Given the description of an element on the screen output the (x, y) to click on. 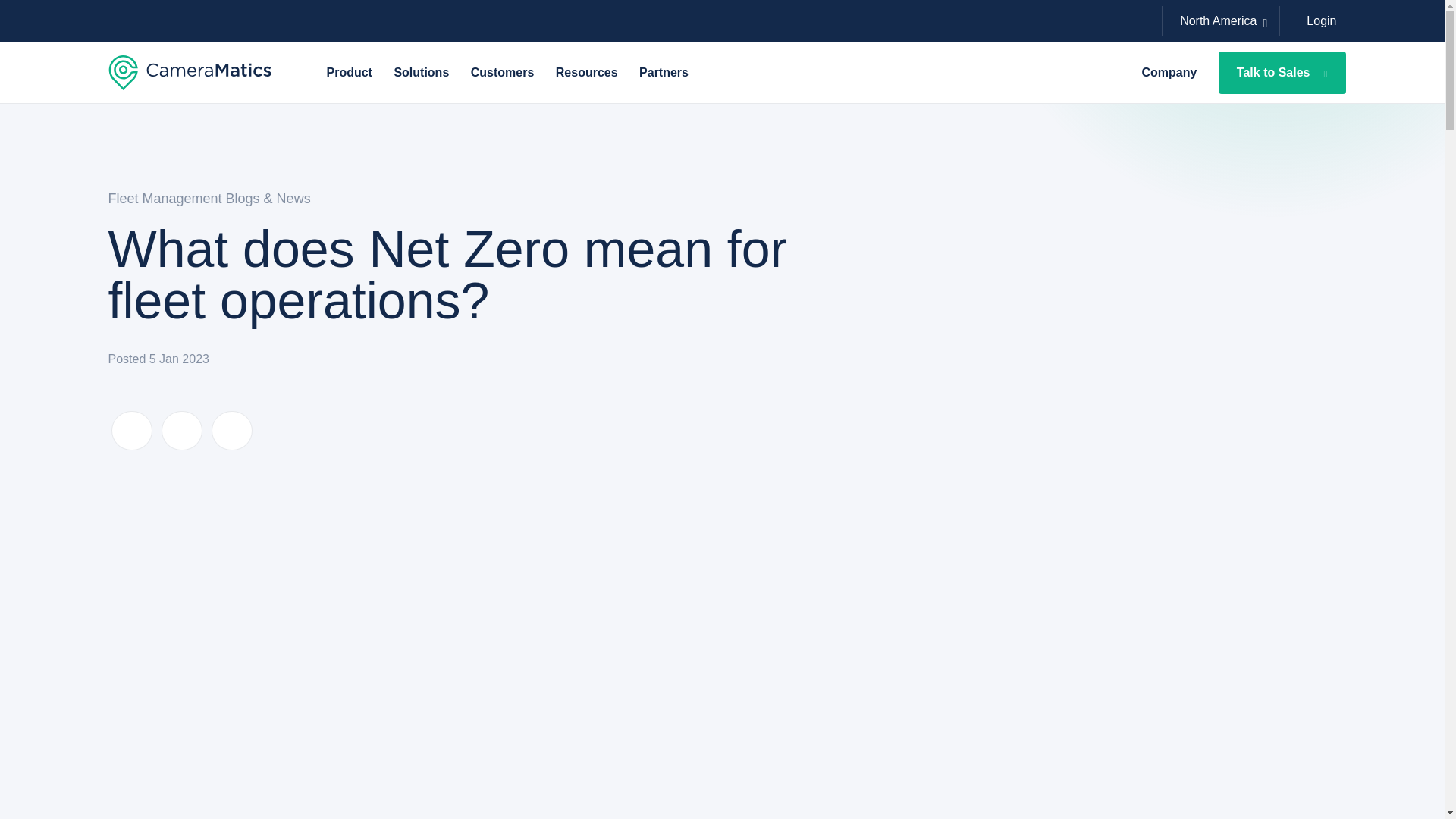
Solutions (420, 72)
Login (1318, 21)
Product (348, 72)
Customers (502, 72)
